Given the description of an element on the screen output the (x, y) to click on. 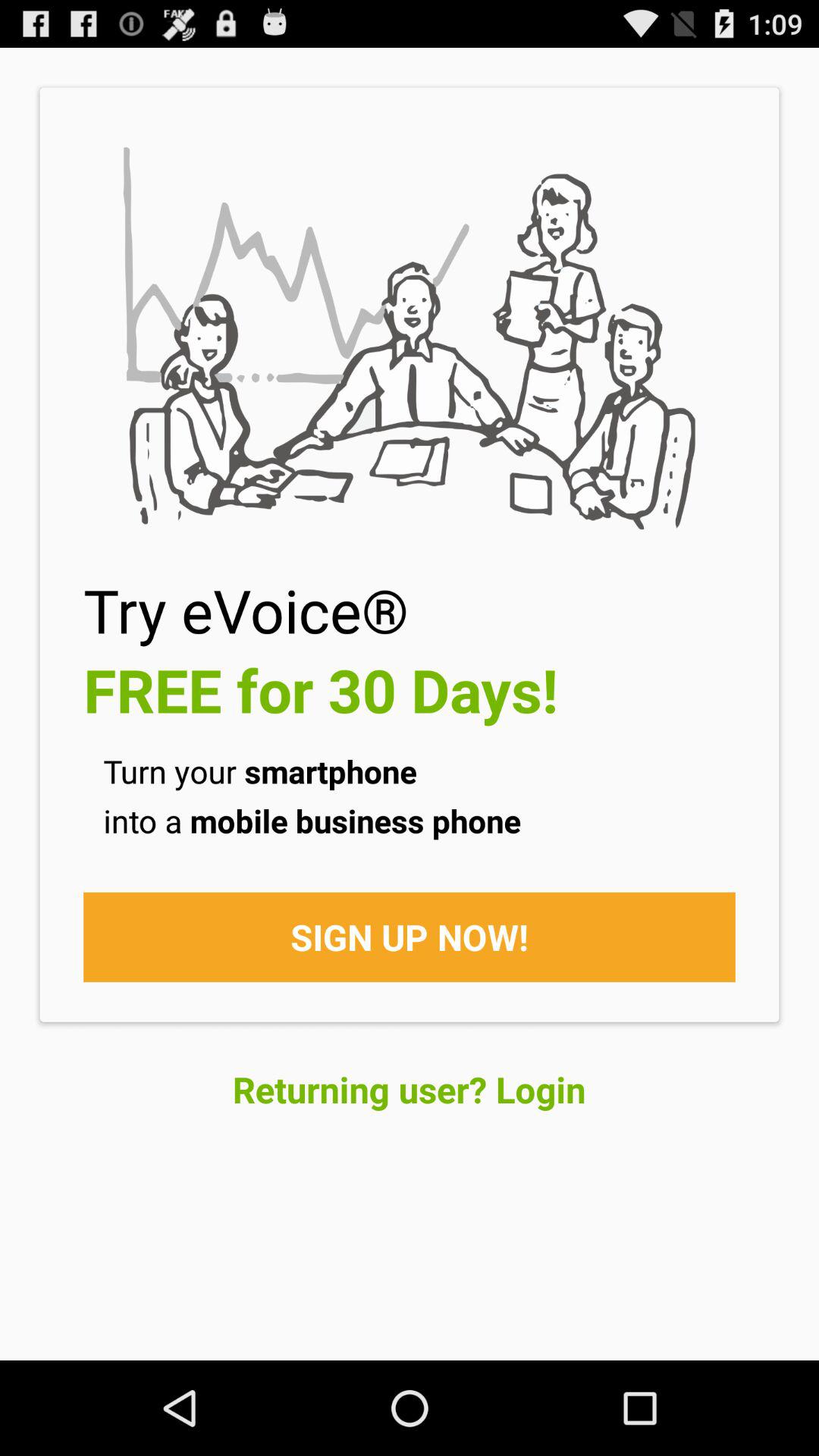
turn on item above returning user? login button (409, 937)
